Given the description of an element on the screen output the (x, y) to click on. 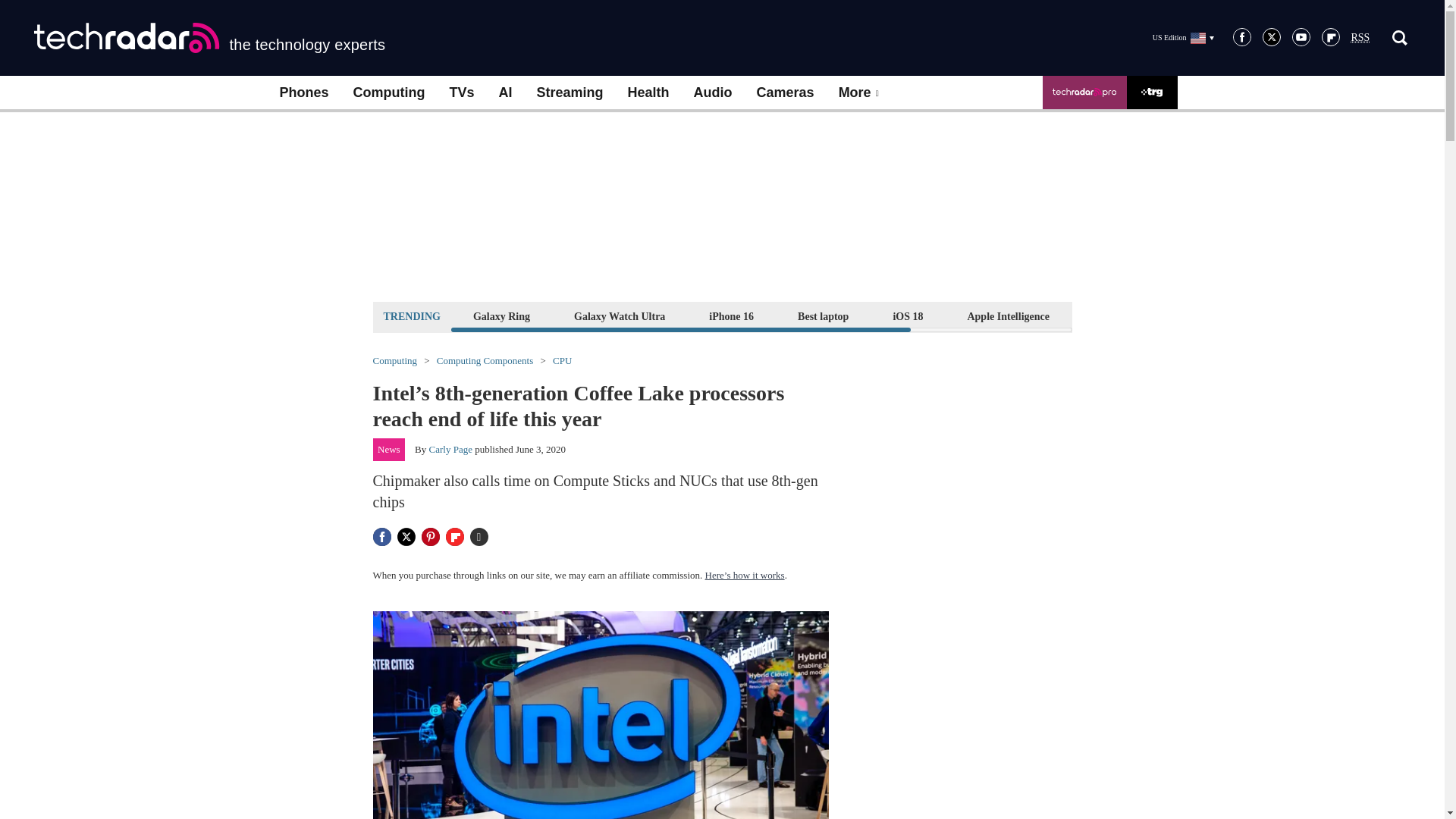
Really Simple Syndication (1360, 37)
AI (505, 92)
Phones (303, 92)
the technology experts (209, 38)
US Edition (1182, 37)
Cameras (785, 92)
TVs (461, 92)
Health (648, 92)
Audio (712, 92)
Streaming (569, 92)
Computing (389, 92)
